Given the description of an element on the screen output the (x, y) to click on. 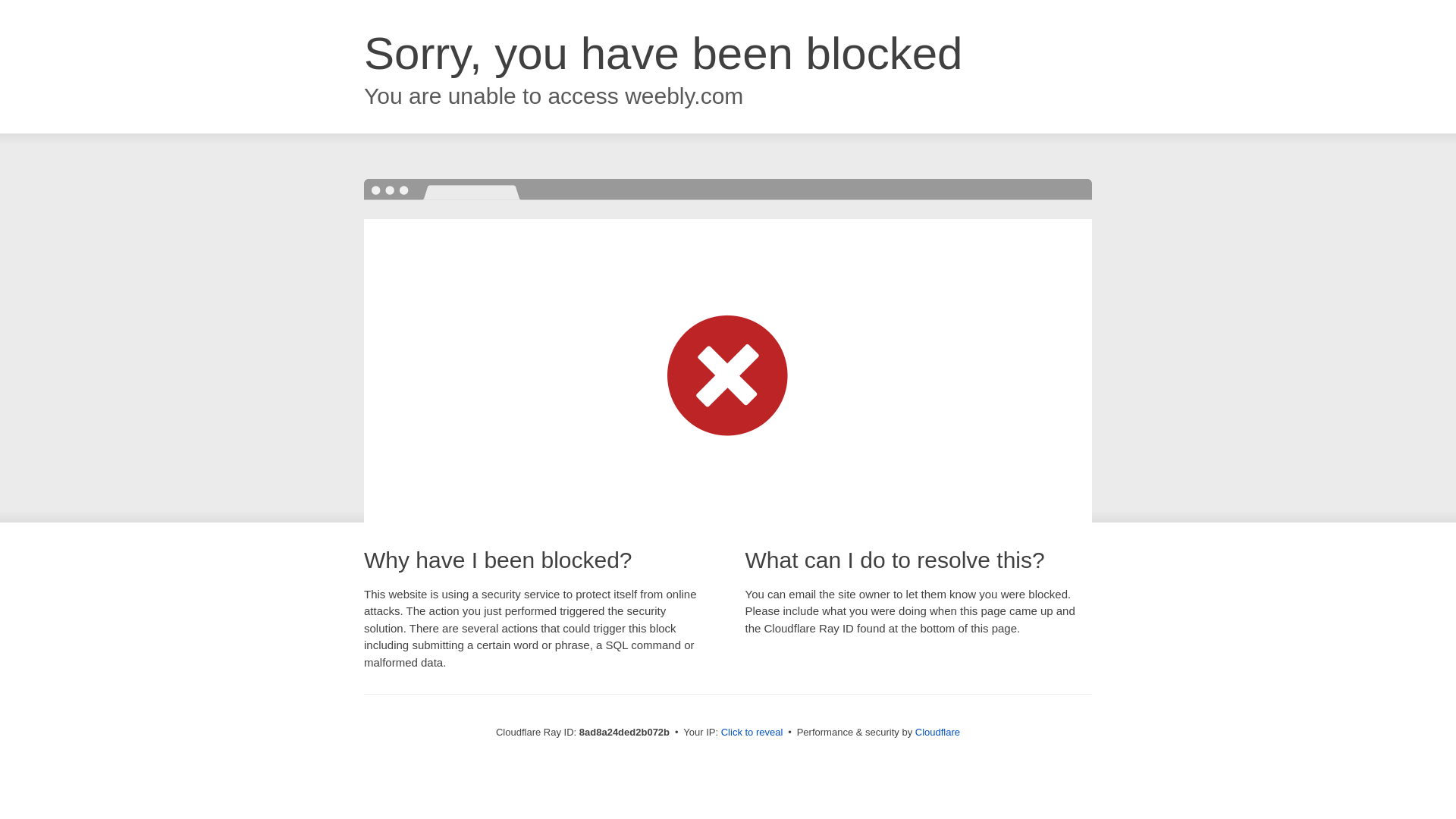
Click to reveal (747, 732)
Cloudflare (933, 731)
